Given the description of an element on the screen output the (x, y) to click on. 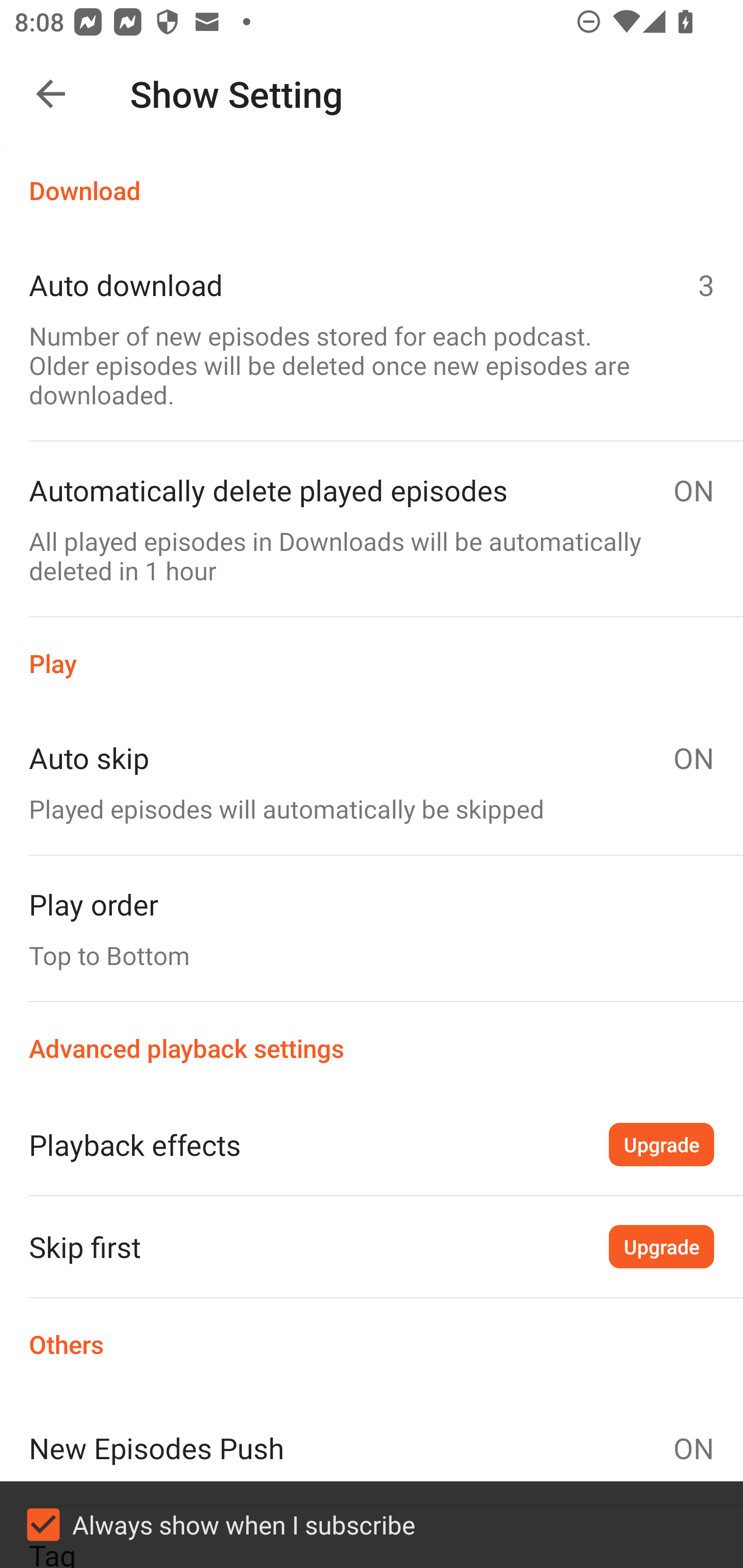
Navigate up (50, 93)
Play order Top to Bottom (371, 928)
Playback effects Upgrade (371, 1144)
Skip first Upgrade (371, 1246)
New Episodes Push ON (371, 1447)
Always show when I subscribe (371, 1524)
